Given the description of an element on the screen output the (x, y) to click on. 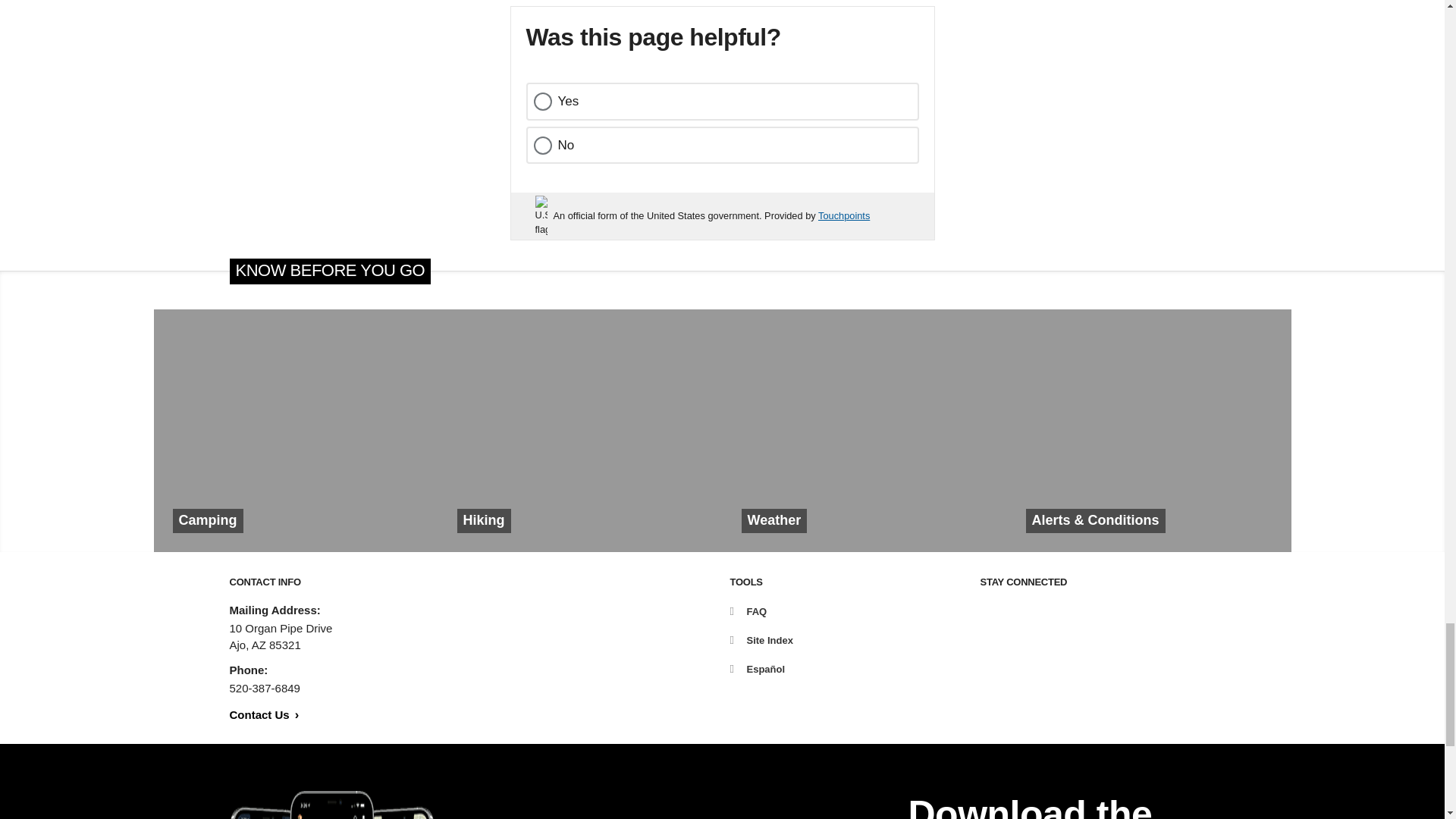
Camping (295, 430)
Contact Us (263, 714)
Weather (864, 430)
FAQ (748, 611)
Hiking (580, 430)
Site Index (760, 640)
Touchpoints (843, 215)
